Given the description of an element on the screen output the (x, y) to click on. 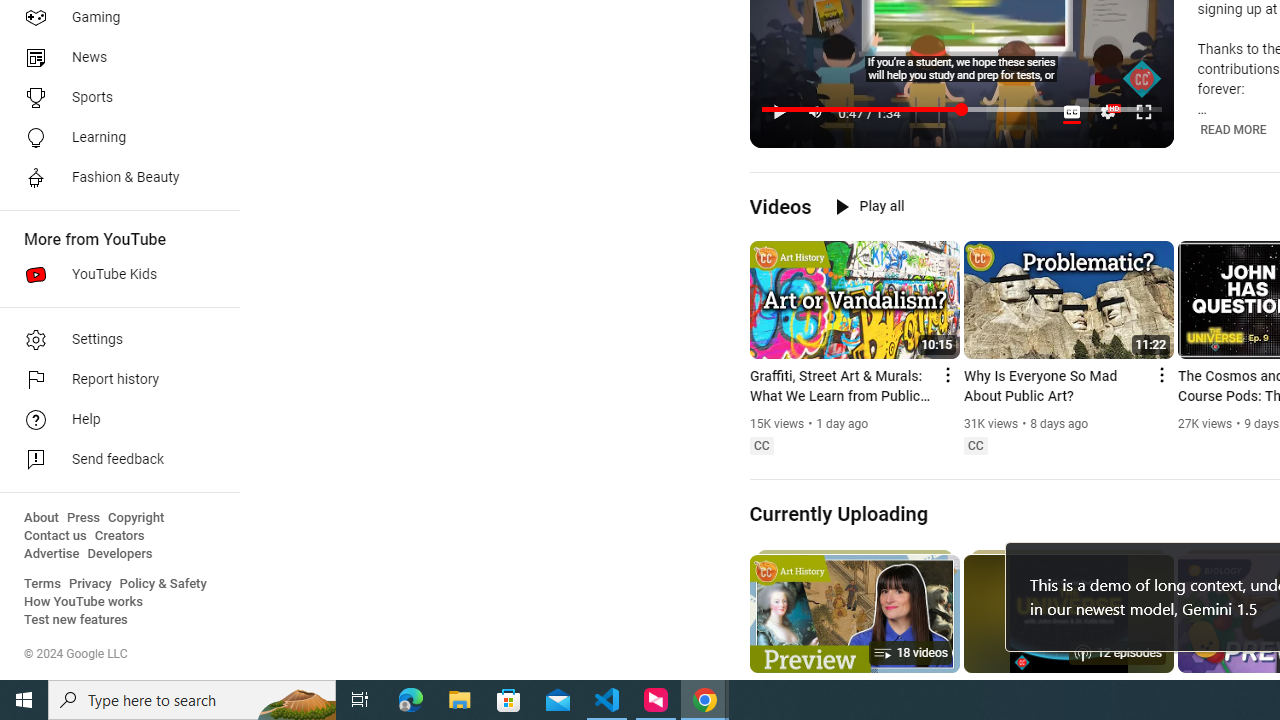
Contact us (55, 536)
Videos (779, 206)
News (113, 57)
YouTube Kids (113, 274)
Currently Uploading (838, 513)
Pause (k) (779, 112)
Policy & Safety (163, 584)
How YouTube works (83, 602)
